Given the description of an element on the screen output the (x, y) to click on. 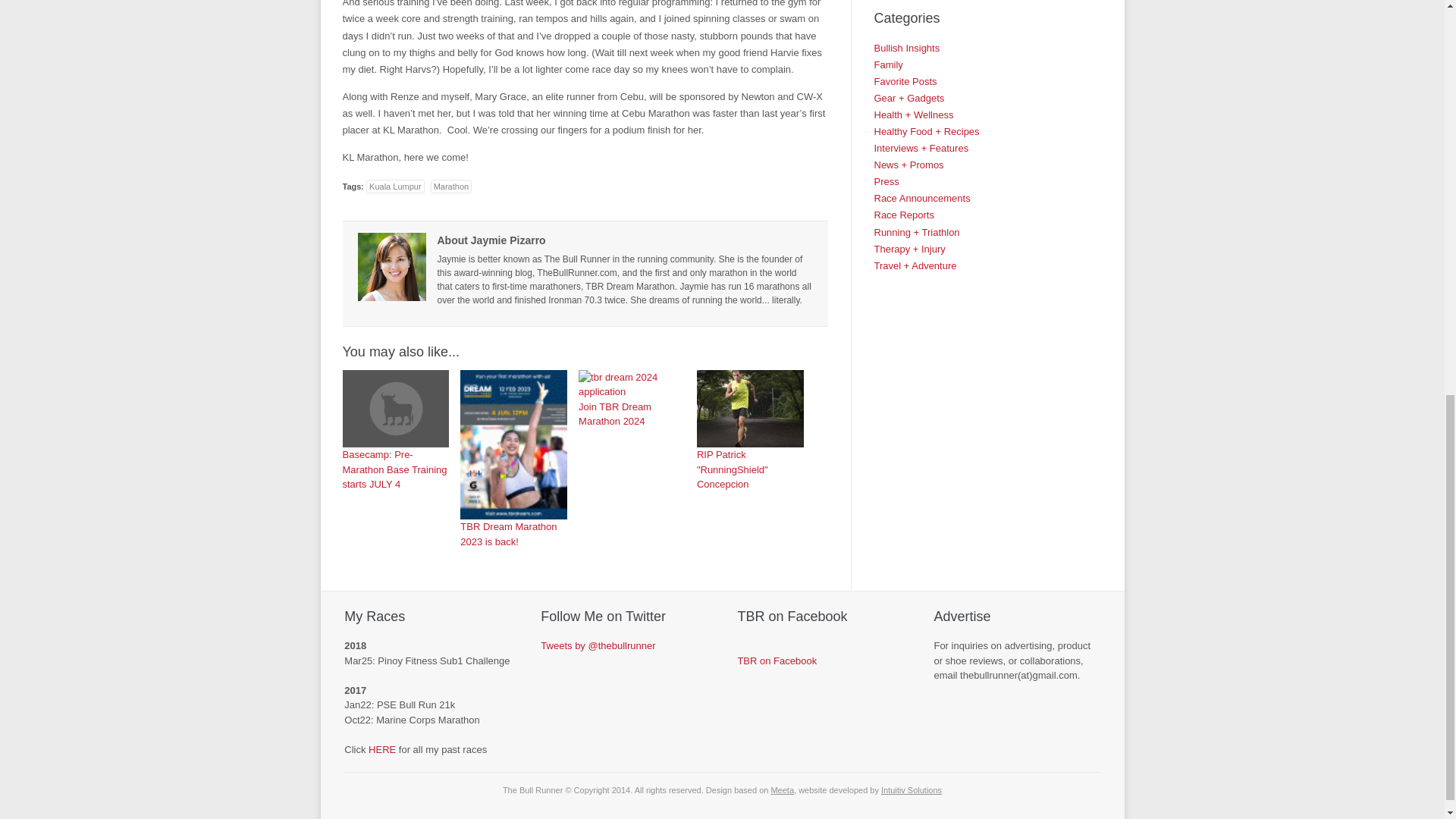
Family (887, 64)
Basecamp: Pre-Marathon Base Training starts JULY 4 (395, 429)
Press (885, 181)
Race Reports (903, 214)
Kuala Lumpur (395, 186)
Premium WordPress Themes (781, 789)
RIP Patrick "RunningShield" Concepcion (750, 429)
Basecamp: Pre-Marathon Base Training starts JULY 4 (395, 408)
Favorite Posts (904, 81)
Join TBR Dream Marathon 2024 (631, 384)
